Given the description of an element on the screen output the (x, y) to click on. 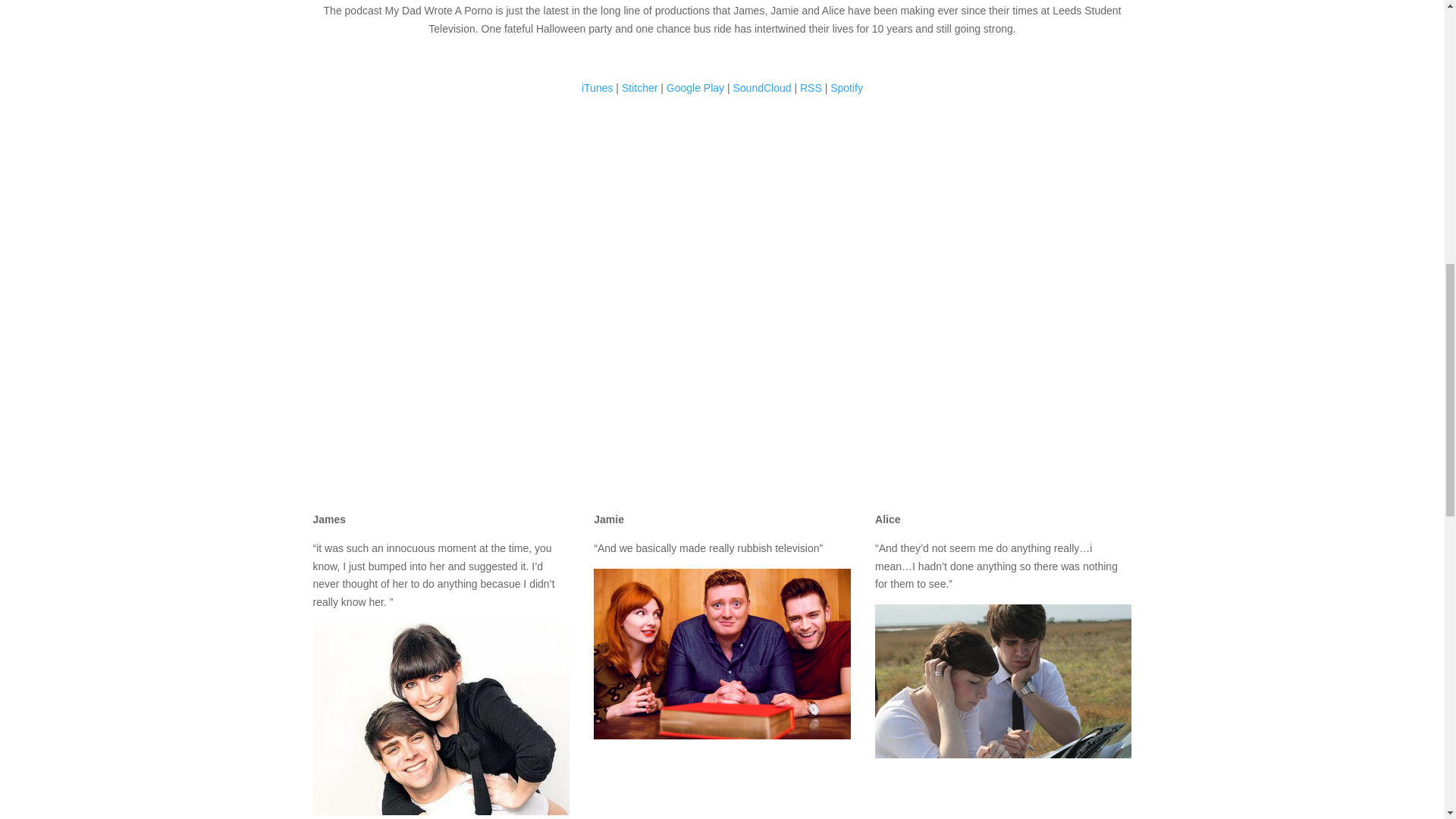
Spotify (846, 87)
RSS (810, 87)
Stitcher (639, 87)
iTunes (596, 87)
Google Play (694, 87)
SoundCloud (761, 87)
